Given the description of an element on the screen output the (x, y) to click on. 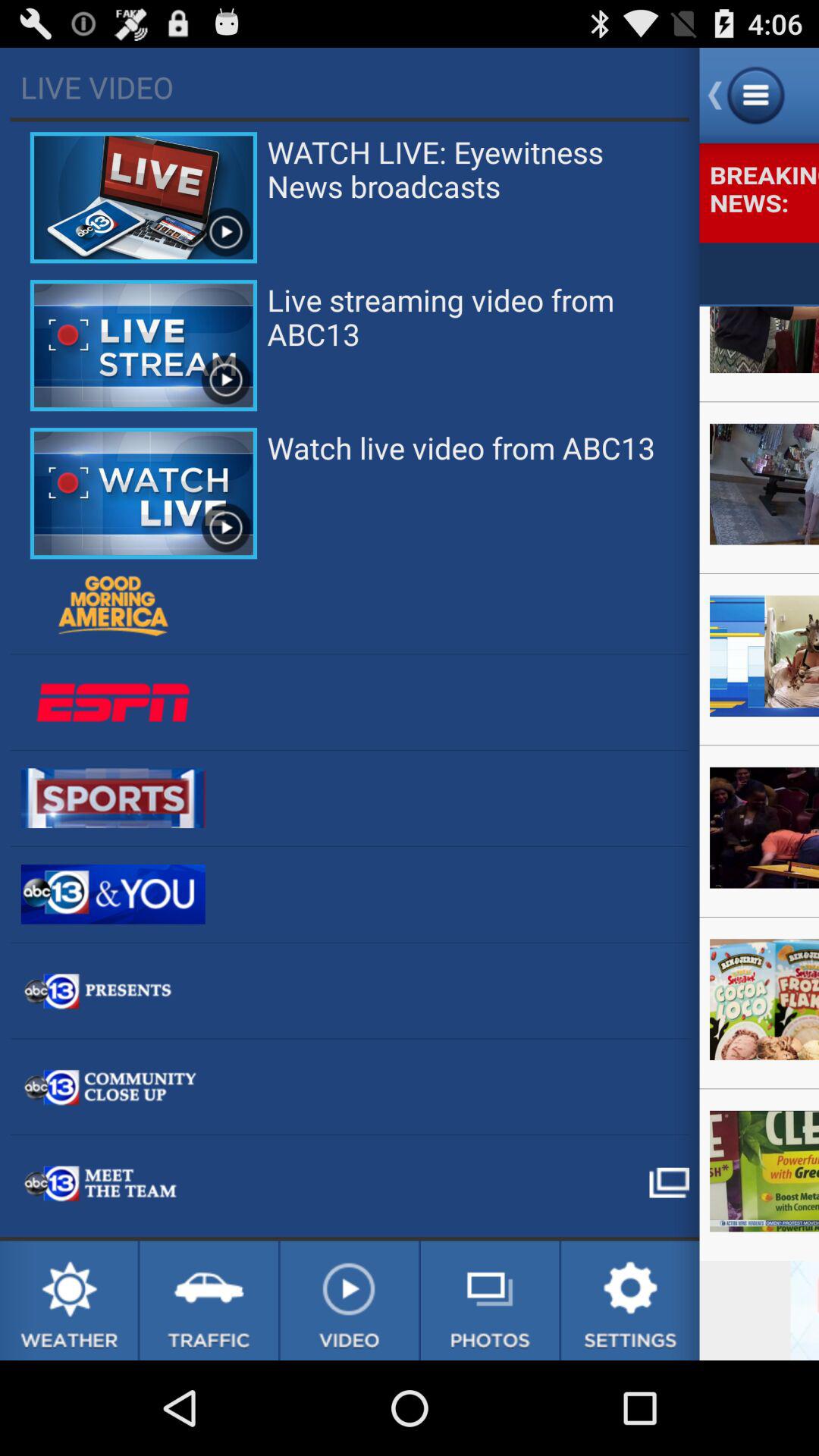
see traffic status (208, 1300)
